Given the description of an element on the screen output the (x, y) to click on. 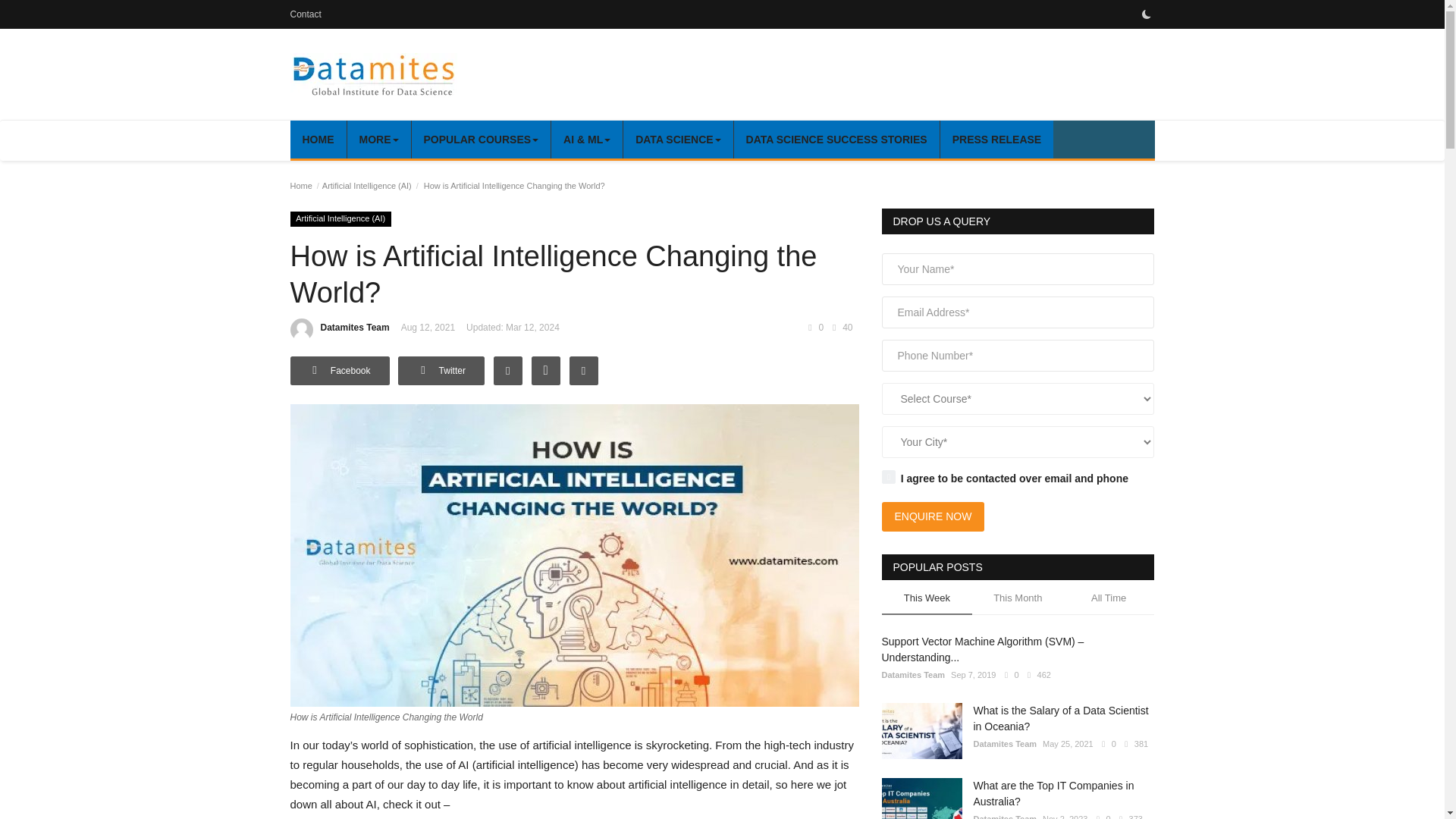
MORE (378, 139)
HOME (317, 139)
DATA SCIENCE (677, 139)
DATA SCIENCE SUCCESS STORIES (836, 139)
PRESS RELEASE (995, 139)
Contact (304, 14)
POPULAR COURSES (480, 139)
